Given the description of an element on the screen output the (x, y) to click on. 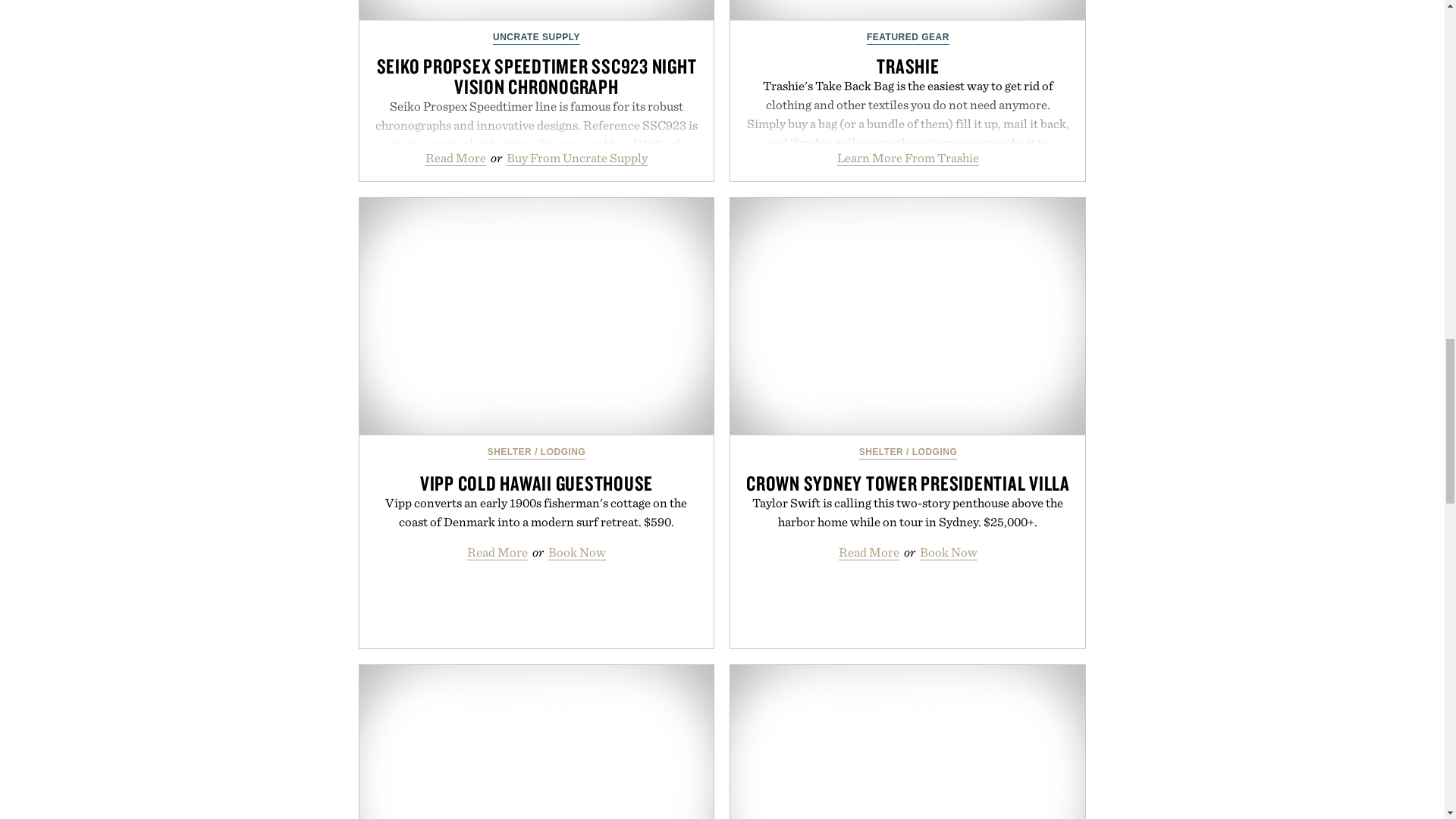
LEGO The Razor Crest UCS (907, 742)
Seiko Propsex Speedtimer SSC923 Night Vision Chronograph (536, 10)
Vipp Cold Hawaii Guesthouse (536, 316)
Foria Wellness (536, 742)
Crown Sydney Tower Presidential Villa (907, 316)
Trashie (907, 10)
